Given the description of an element on the screen output the (x, y) to click on. 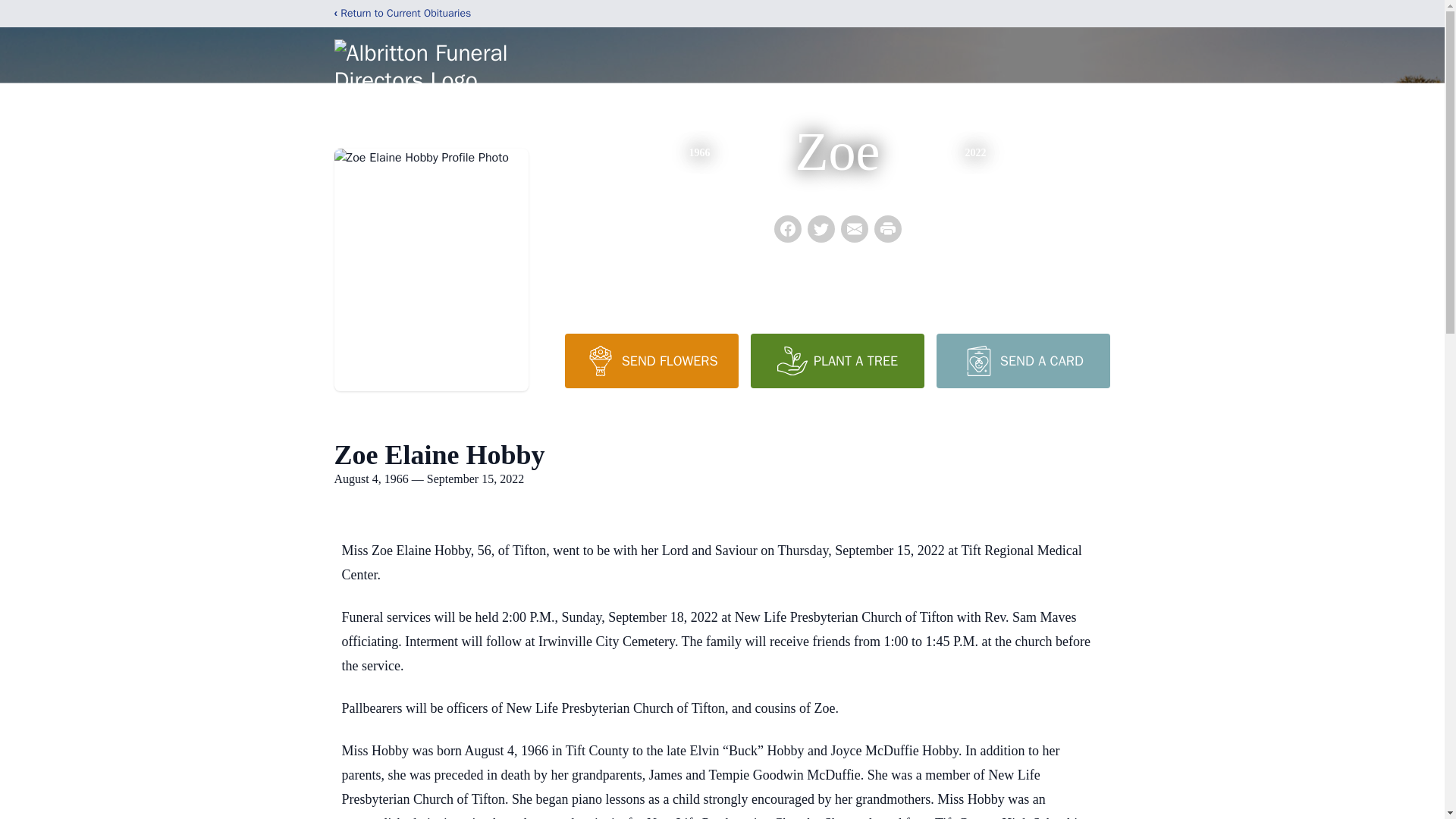
SEND FLOWERS (651, 360)
SEND A CARD (1022, 360)
PLANT A TREE (837, 360)
